Given the description of an element on the screen output the (x, y) to click on. 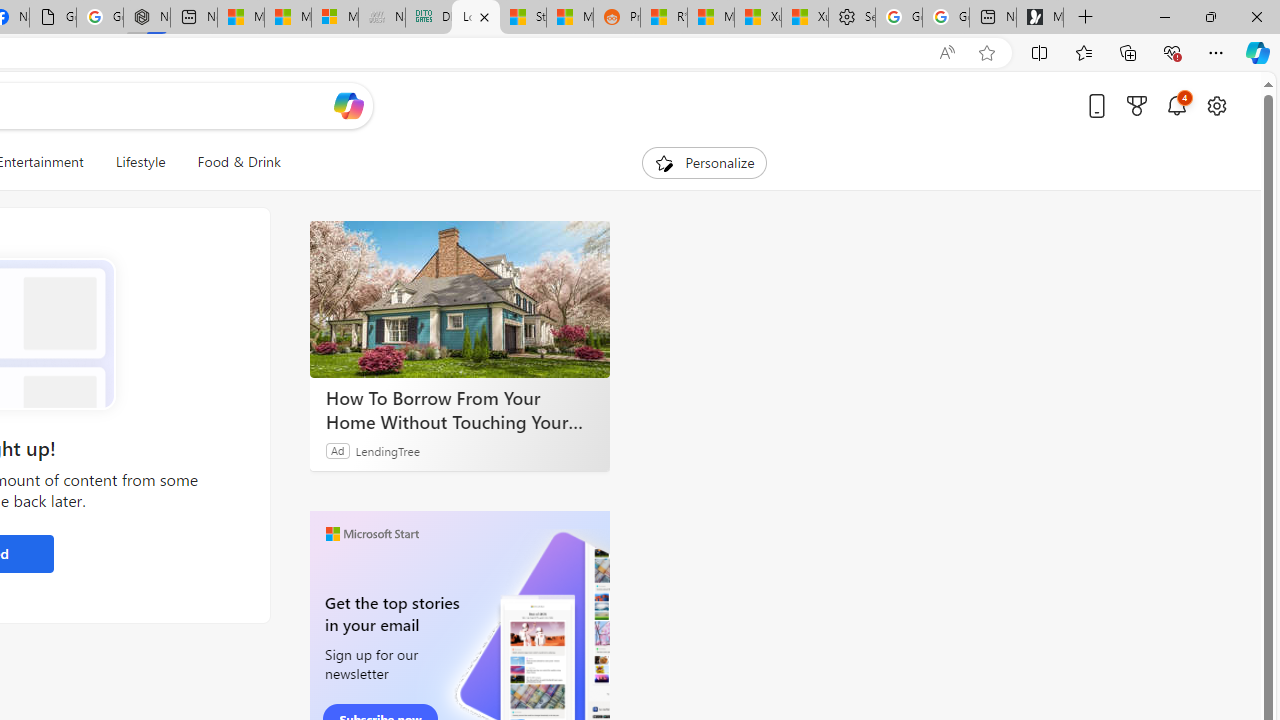
Local - MSN (476, 17)
